Given the description of an element on the screen output the (x, y) to click on. 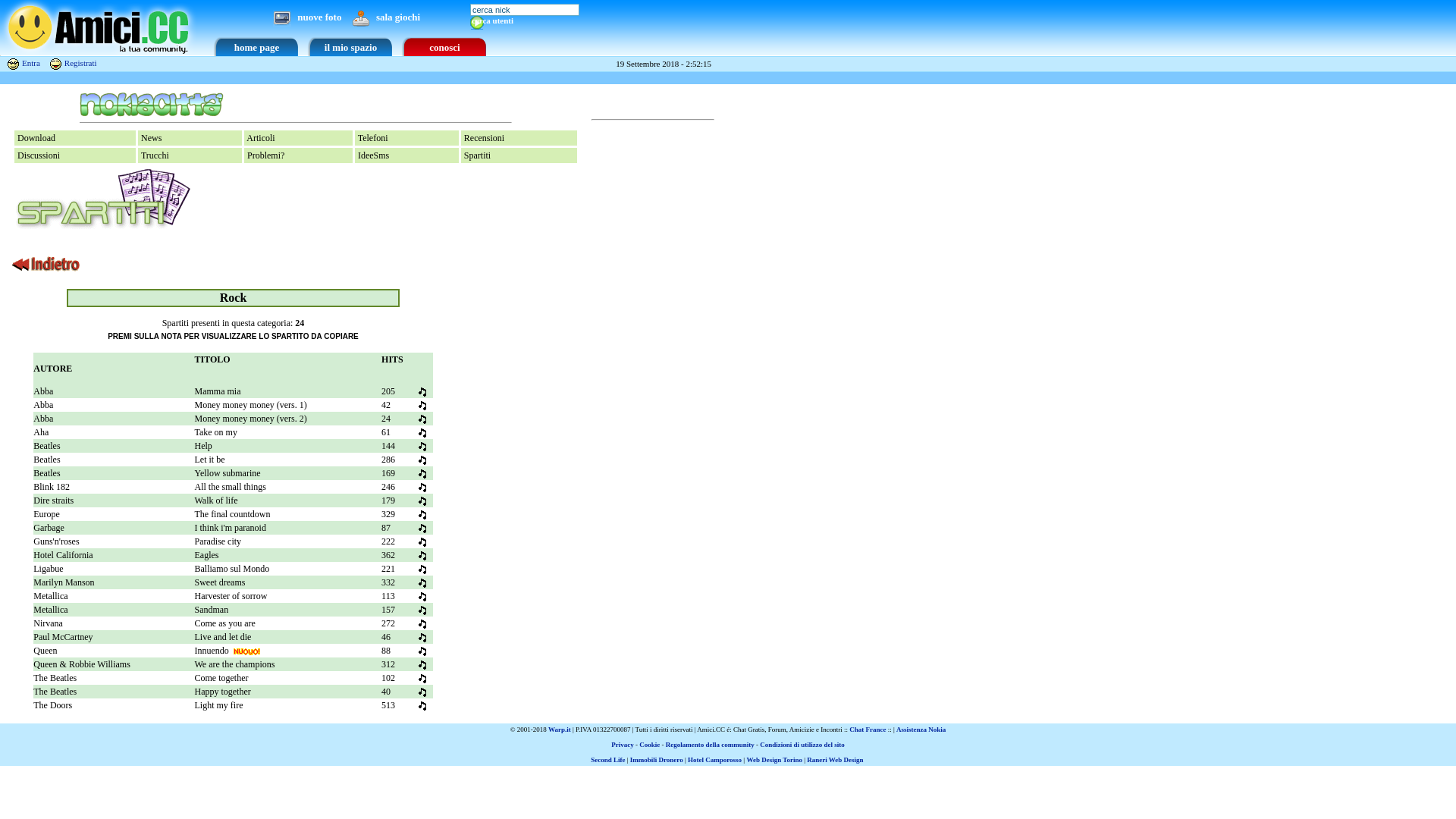
Privacy Element type: text (622, 744)
Hotel Camporosso Element type: text (714, 759)
nuove foto Element type: text (319, 16)
cerca nick Element type: text (524, 9)
il mio spazio Element type: text (350, 47)
Immobili Dronero Element type: text (656, 759)
sala giochi Element type: text (398, 16)
Regolamento della community Element type: text (709, 744)
Second Life Element type: text (607, 759)
cerca utenti Element type: text (492, 20)
home page Element type: text (256, 47)
Entra Element type: text (30, 62)
Condizioni di utilizzo del sito Element type: text (801, 744)
Registrati Element type: text (80, 62)
Warp.it Element type: text (559, 729)
Assistenza Nokia Element type: text (920, 729)
Web Design Torino Element type: text (774, 759)
Raneri Web Design Element type: text (834, 759)
Cookie Element type: text (649, 744)
Chat France Element type: text (867, 729)
conosci Element type: text (444, 47)
